Given the description of an element on the screen output the (x, y) to click on. 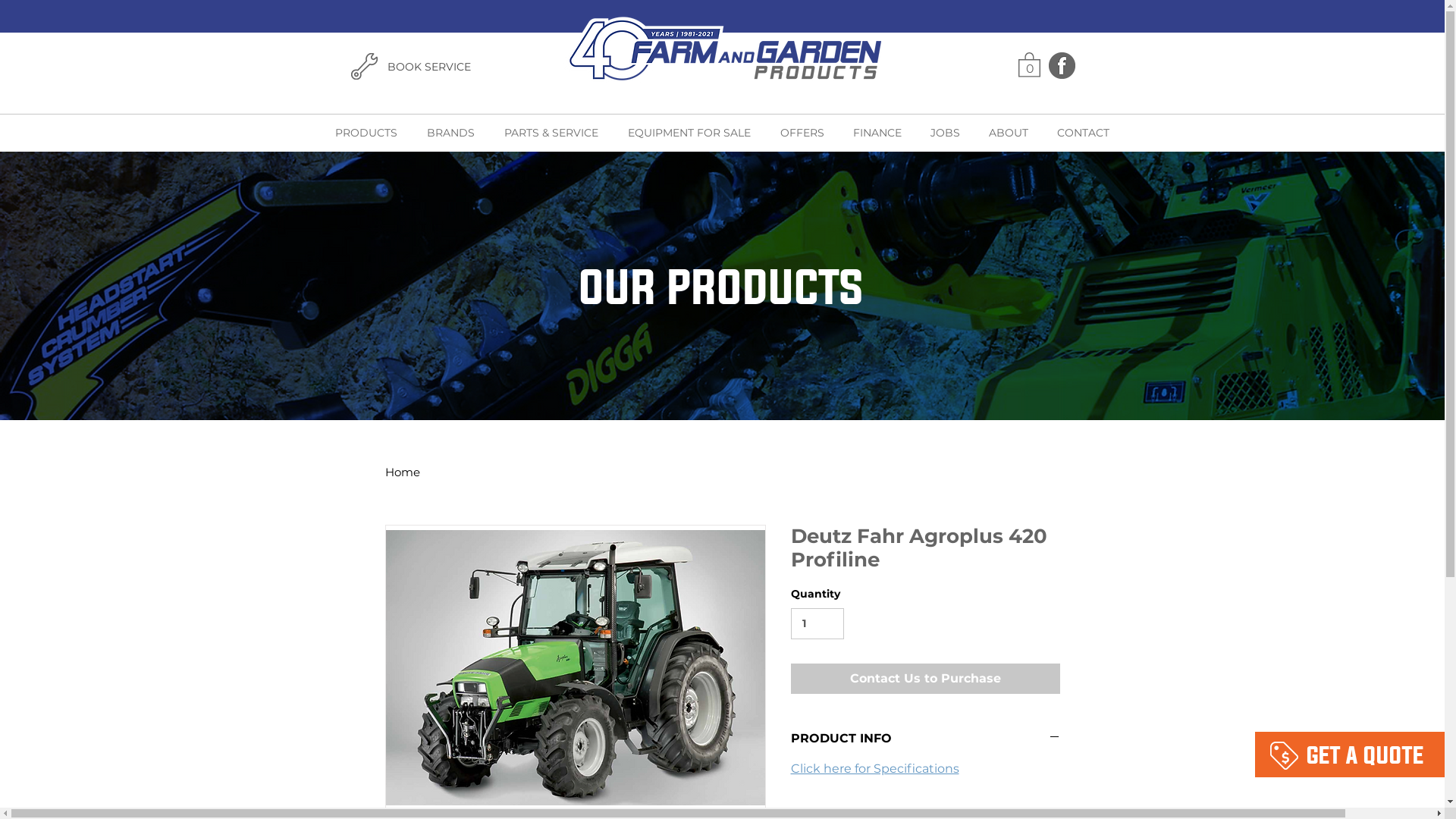
PARTS & SERVICE Element type: text (549, 132)
FINANCE Element type: text (877, 132)
PRODUCTS Element type: text (365, 132)
BOOK SERVICE Element type: text (1344, 65)
CONTACT Element type: text (1082, 132)
PRODUCT INFO Element type: text (924, 738)
Contact Us to Purchase Element type: text (924, 678)
0 Element type: text (1271, 65)
Click here for Specifications Element type: text (874, 768)
0 Element type: text (1028, 63)
GET A QUOTE Element type: text (1365, 754)
GET A QUOTE Element type: text (239, 63)
ABOUT Element type: text (1007, 132)
BOOK SERVICE Element type: text (428, 67)
EQUIPMENT FOR SALE Element type: text (688, 132)
JOBS Element type: text (945, 132)
Home Element type: text (402, 471)
BRANDS Element type: text (449, 132)
